Given the description of an element on the screen output the (x, y) to click on. 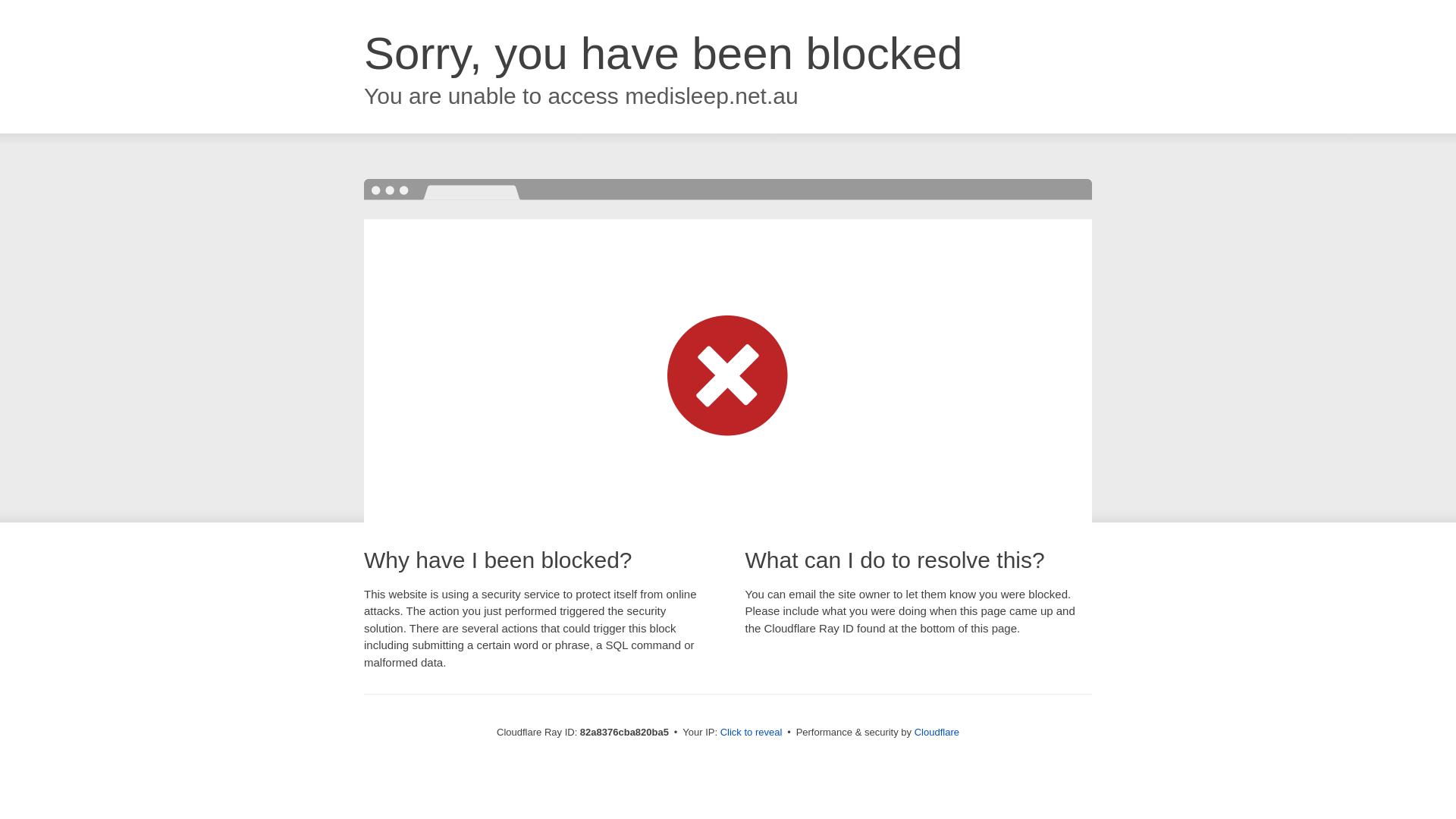
Click to reveal Element type: text (751, 732)
Cloudflare Element type: text (936, 731)
